Given the description of an element on the screen output the (x, y) to click on. 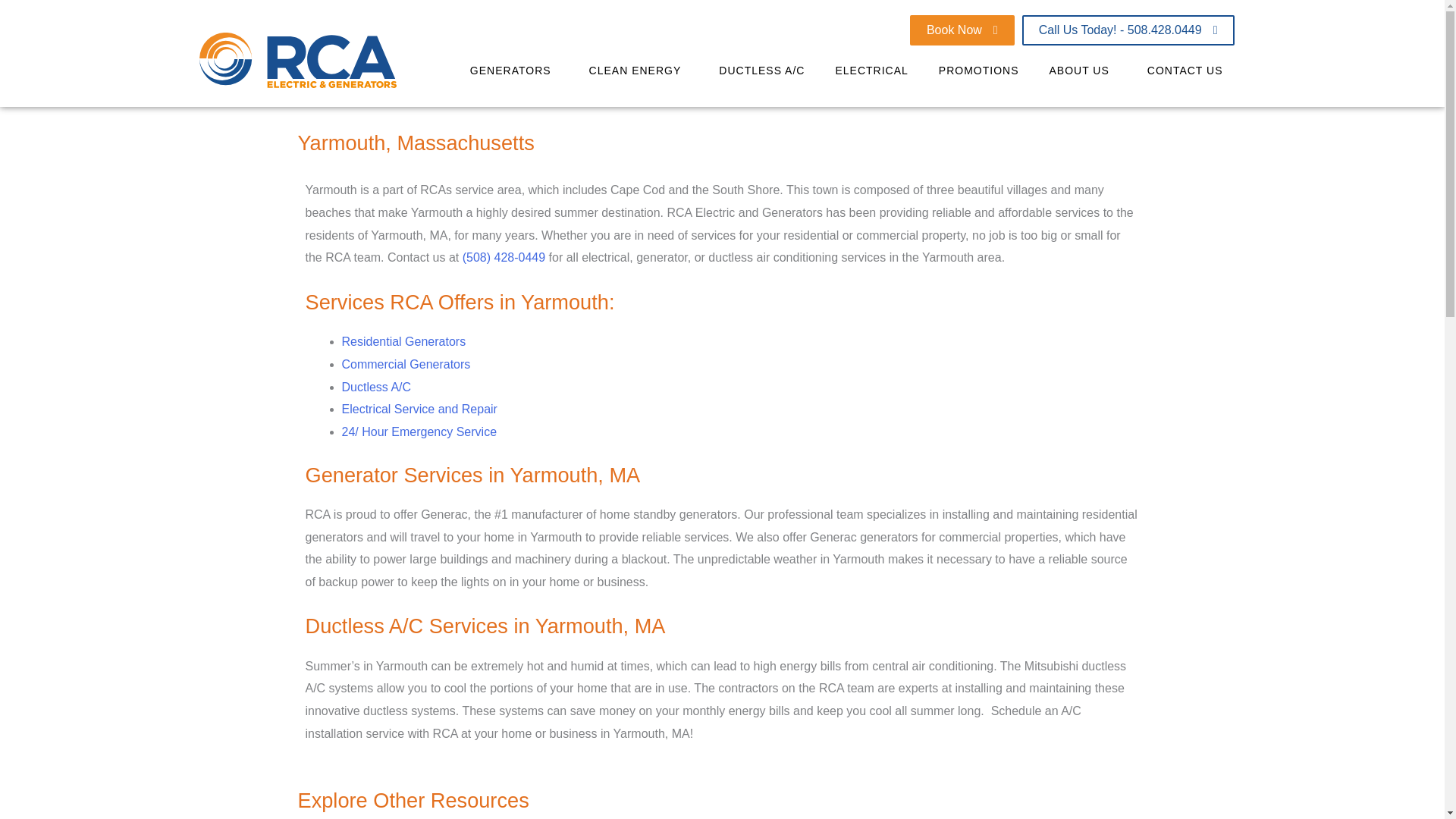
GENERATORS (513, 70)
CONTACT US (1189, 70)
CLEAN ENERGY (638, 70)
ABOUT US (1082, 70)
PROMOTIONS (978, 70)
Book Now (962, 30)
Call Us Today! - 508.428.0449 (1128, 30)
ELECTRICAL (871, 70)
